Given the description of an element on the screen output the (x, y) to click on. 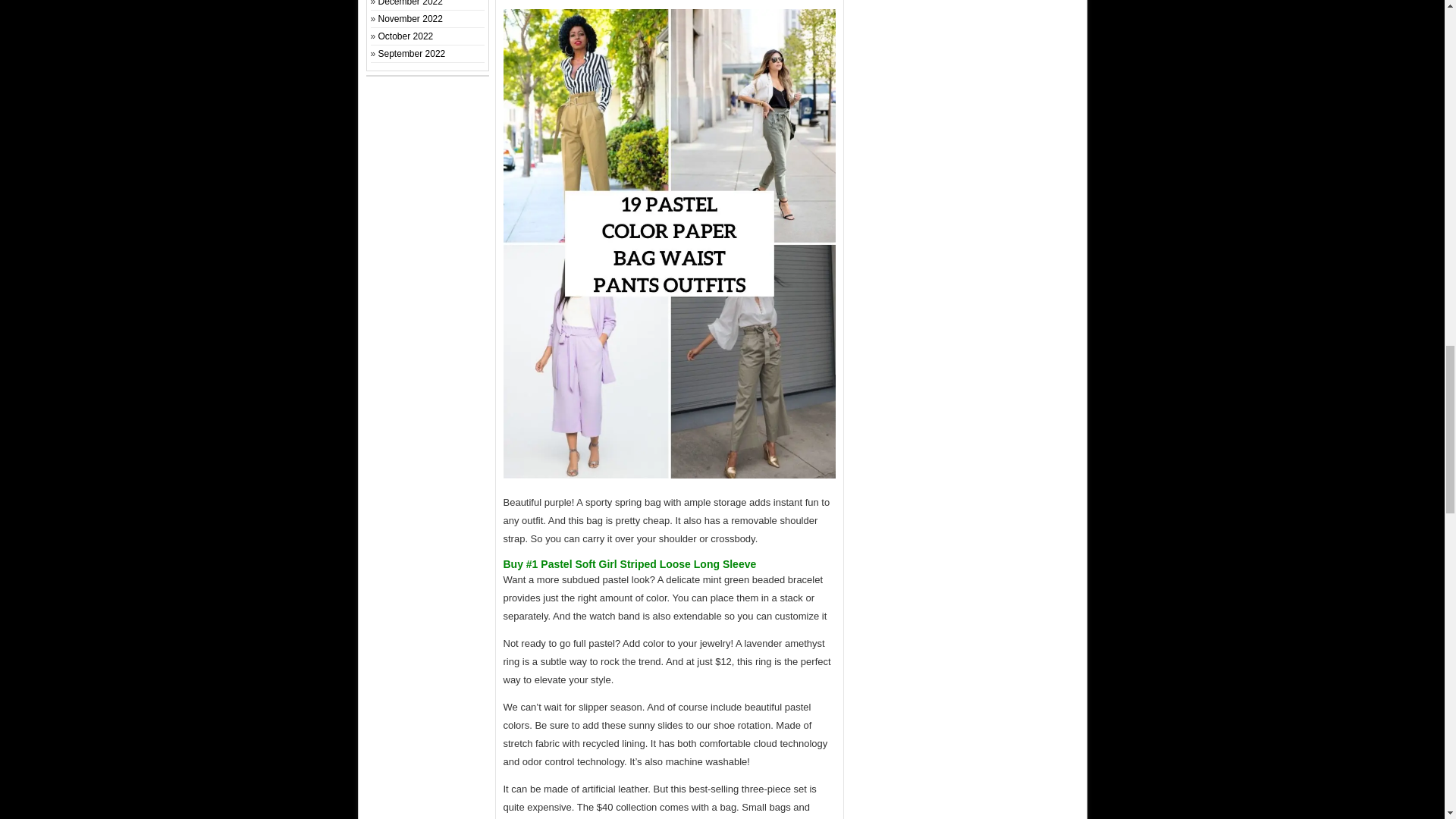
December 2022 (410, 3)
